Given the description of an element on the screen output the (x, y) to click on. 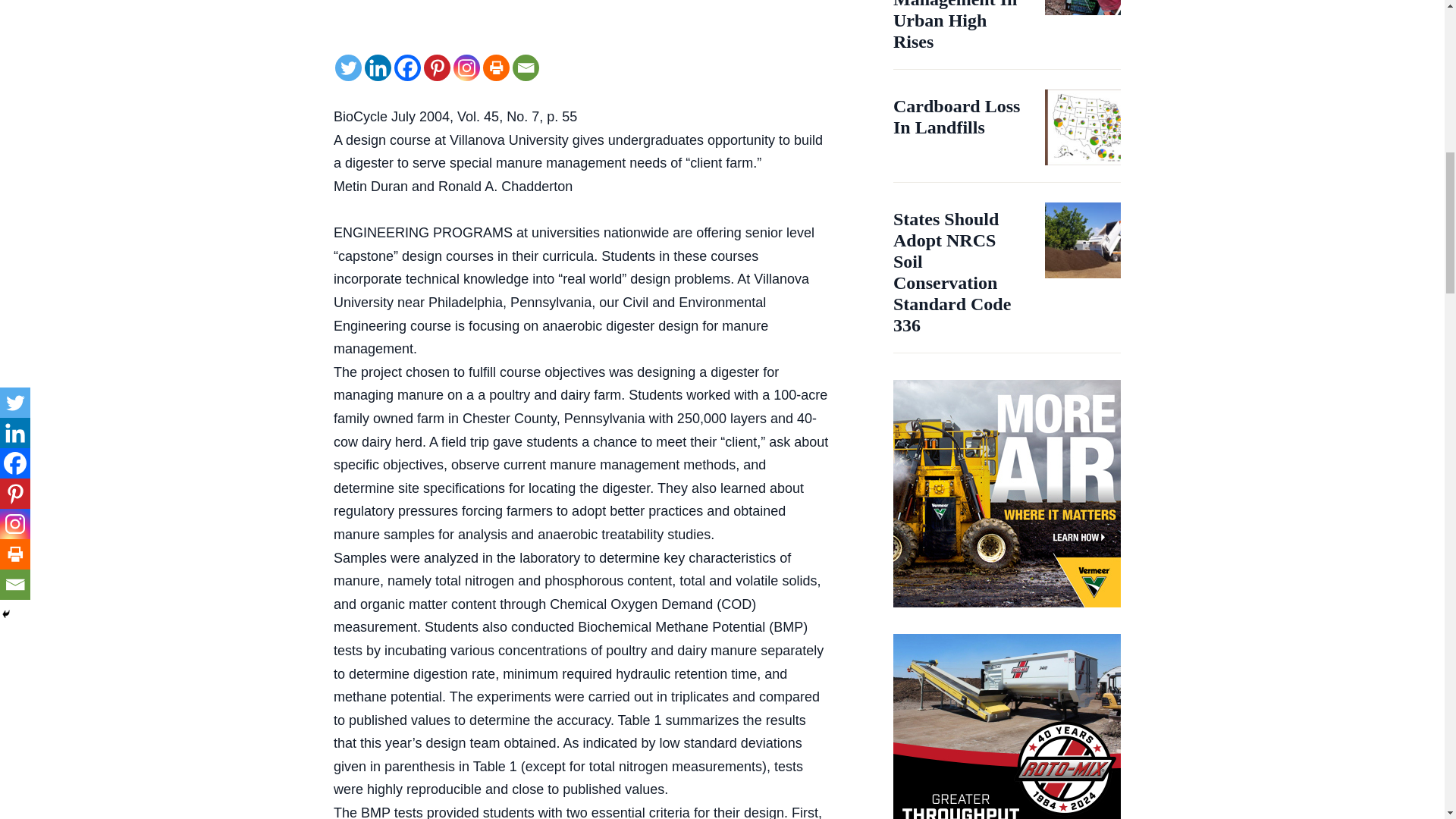
Pinterest (436, 67)
Email (525, 67)
Instagram (466, 67)
Print (496, 67)
Twitter (347, 67)
Linkedin (378, 67)
Facebook (407, 67)
